Given the description of an element on the screen output the (x, y) to click on. 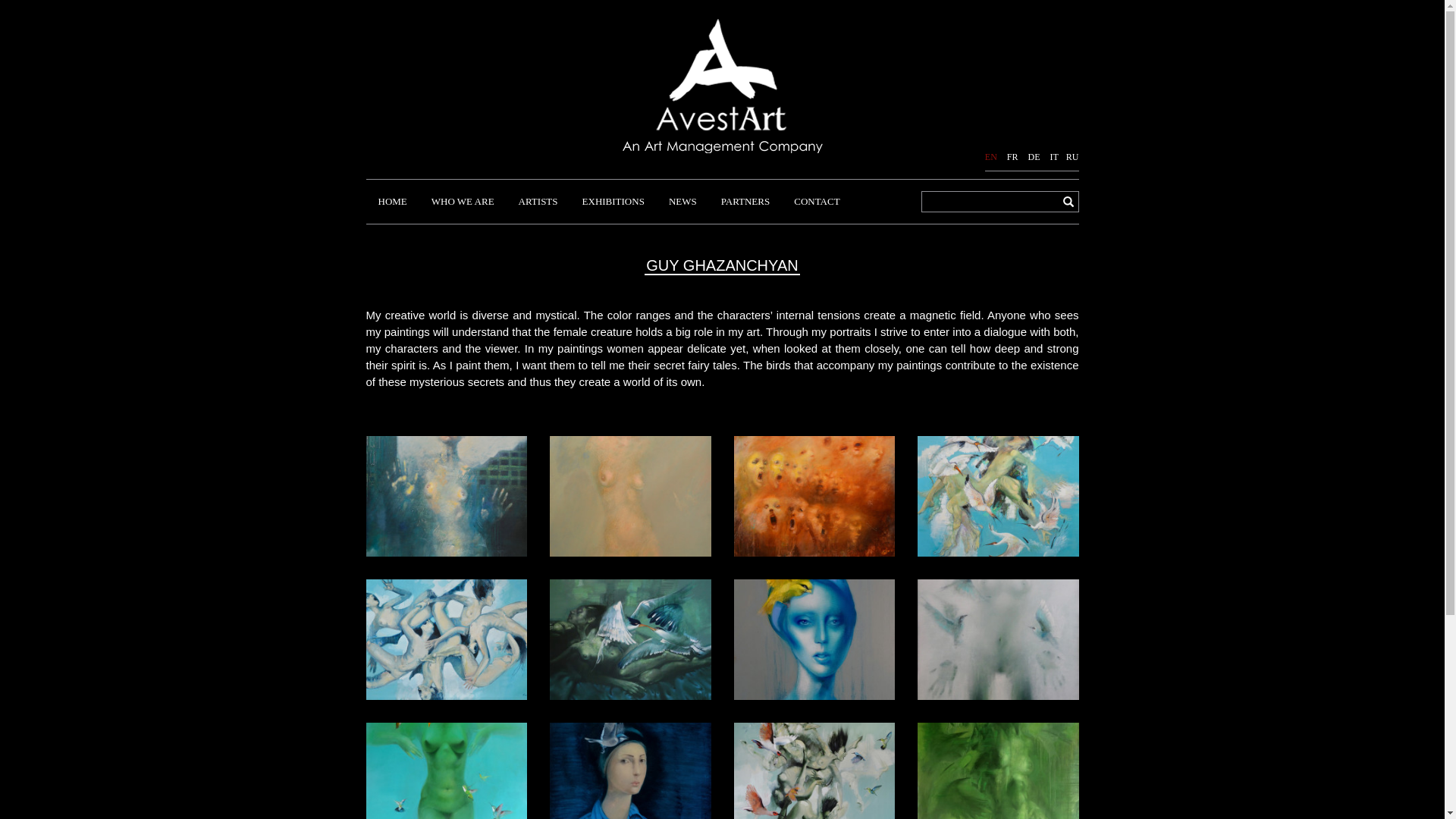
In the City | 2014 | 105 x 78 cm | Oil on Canvas Element type: hover (446, 494)
RU Element type: text (1072, 156)
PARTNERS Element type: text (745, 201)
In the Fog | 2013 | 80 x 60 cm | Oil on Canvas Element type: hover (998, 638)
HOME Element type: text (391, 201)
EXHIBITIONS Element type: text (613, 201)
EN Element type: text (991, 156)
CONTACT Element type: text (816, 201)
WHO WE ARE Element type: text (462, 201)
Will not Forget | 2015 | 50 x 50 cm | Oil on Canvas Element type: hover (630, 781)
Impulse | 2015 | 90 x 60 cm | Oil on Canvas Element type: hover (630, 494)
In the Dream | 2013 | 150 x 110 cm | Oil on Canvas  Element type: hover (998, 781)
Illusion of Freedom | 2013 | 200 x 213 cm | Oil on Canvas Element type: hover (814, 781)
NEWS Element type: text (682, 201)
FR Element type: text (1012, 156)
Unison | 2015 | 70 x 90 cm | Oil on Canvas Element type: hover (814, 494)
For the Possibility | 2015 | 140 x 200 cm | Oil on Canvas Element type: hover (446, 638)
GUY GHAZANCHYAN Element type: text (721, 266)
IT Element type: text (1053, 156)
Outside the Walls | 2015 | 200 x 200 cm | Oil on Canvas Element type: hover (998, 494)
The Illusion | 2013 | 150 x 110 cm | Oil on Canvas Element type: hover (446, 781)
Love | 2013 | 80 x 120 cm | Oil on Canvas  Element type: hover (630, 638)
DE Element type: text (1034, 156)
ARTISTS Element type: text (538, 201)
With a Yellow Bird | 2014 | 40 x 60 cm | Oil on Canvas Element type: hover (814, 638)
